Given the description of an element on the screen output the (x, y) to click on. 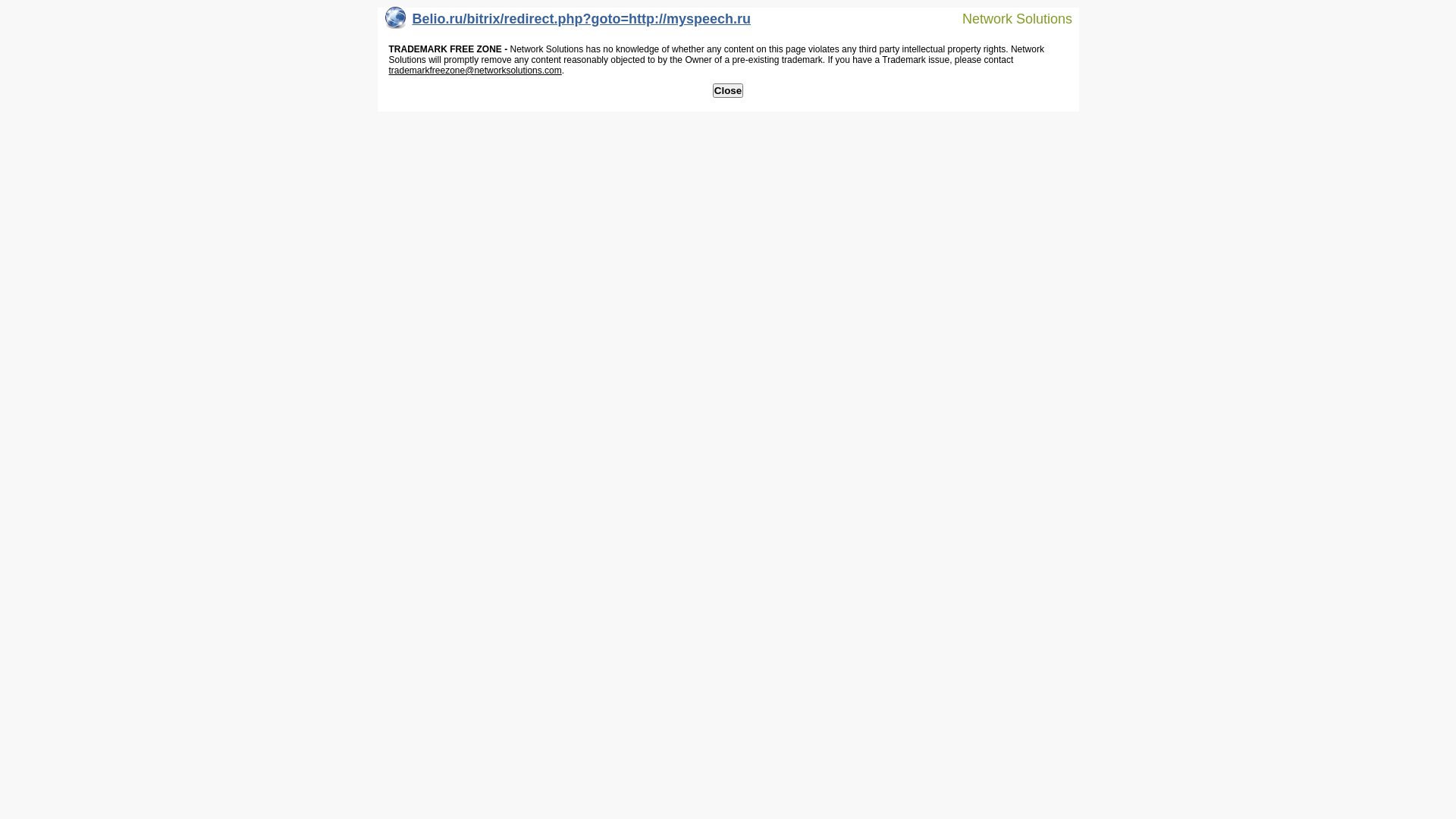
Network Solutions Element type: text (1007, 17)
Belio.ru/bitrix/redirect.php?goto=http://myspeech.ru Element type: text (568, 21)
Close Element type: text (727, 90)
trademarkfreezone@networksolutions.com Element type: text (474, 70)
